Given the description of an element on the screen output the (x, y) to click on. 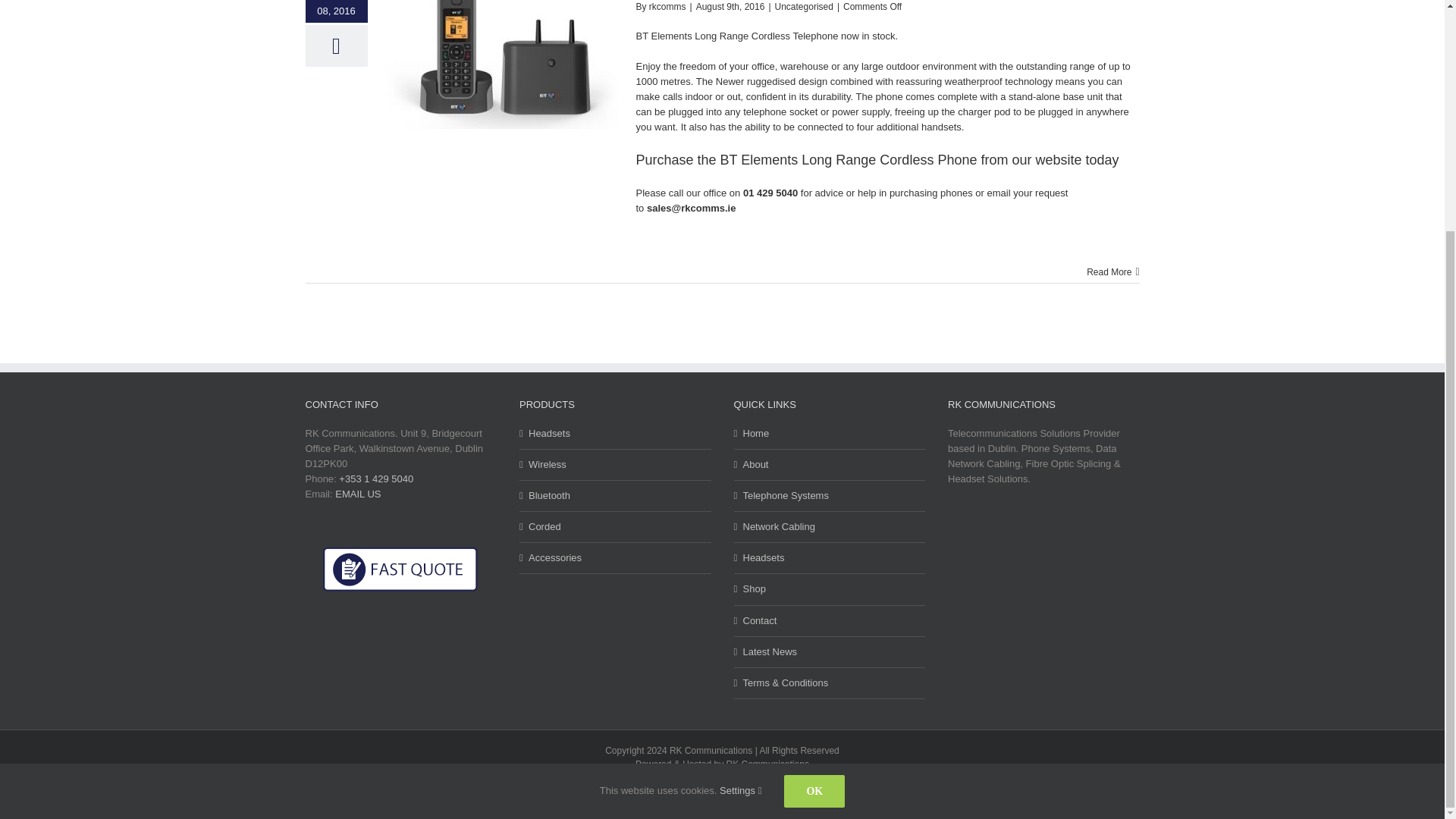
Posts by rkcomms (667, 6)
